Given the description of an element on the screen output the (x, y) to click on. 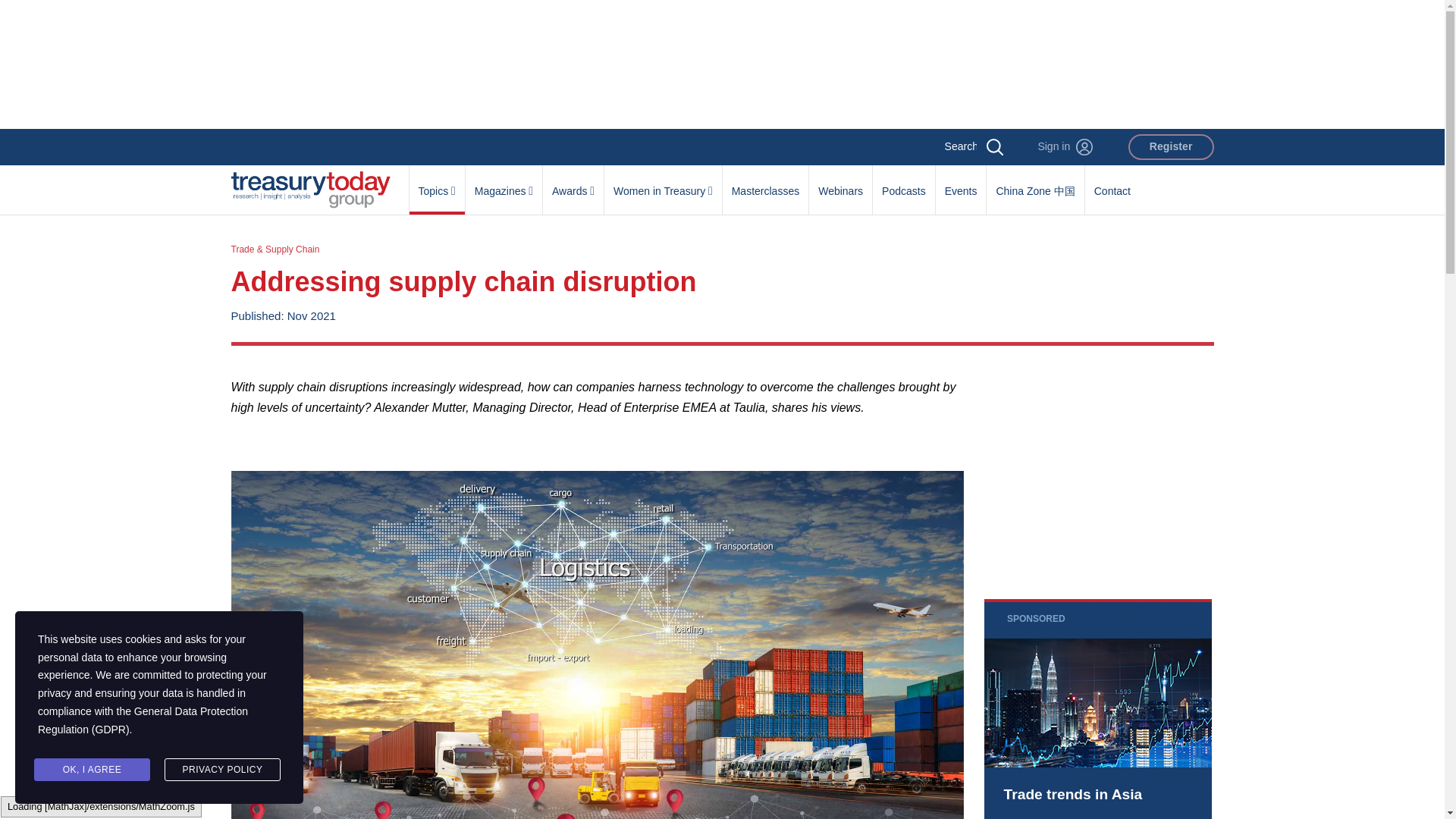
3rd party ad content (1097, 708)
3rd party ad content (721, 63)
3rd party ad content (1097, 471)
Magazines  (503, 182)
Register (1171, 146)
Topics  (436, 182)
Sign in (1064, 146)
Masterclasses (765, 182)
Webinars (840, 182)
Awards  (573, 182)
Women in Treasury  (663, 182)
